Given the description of an element on the screen output the (x, y) to click on. 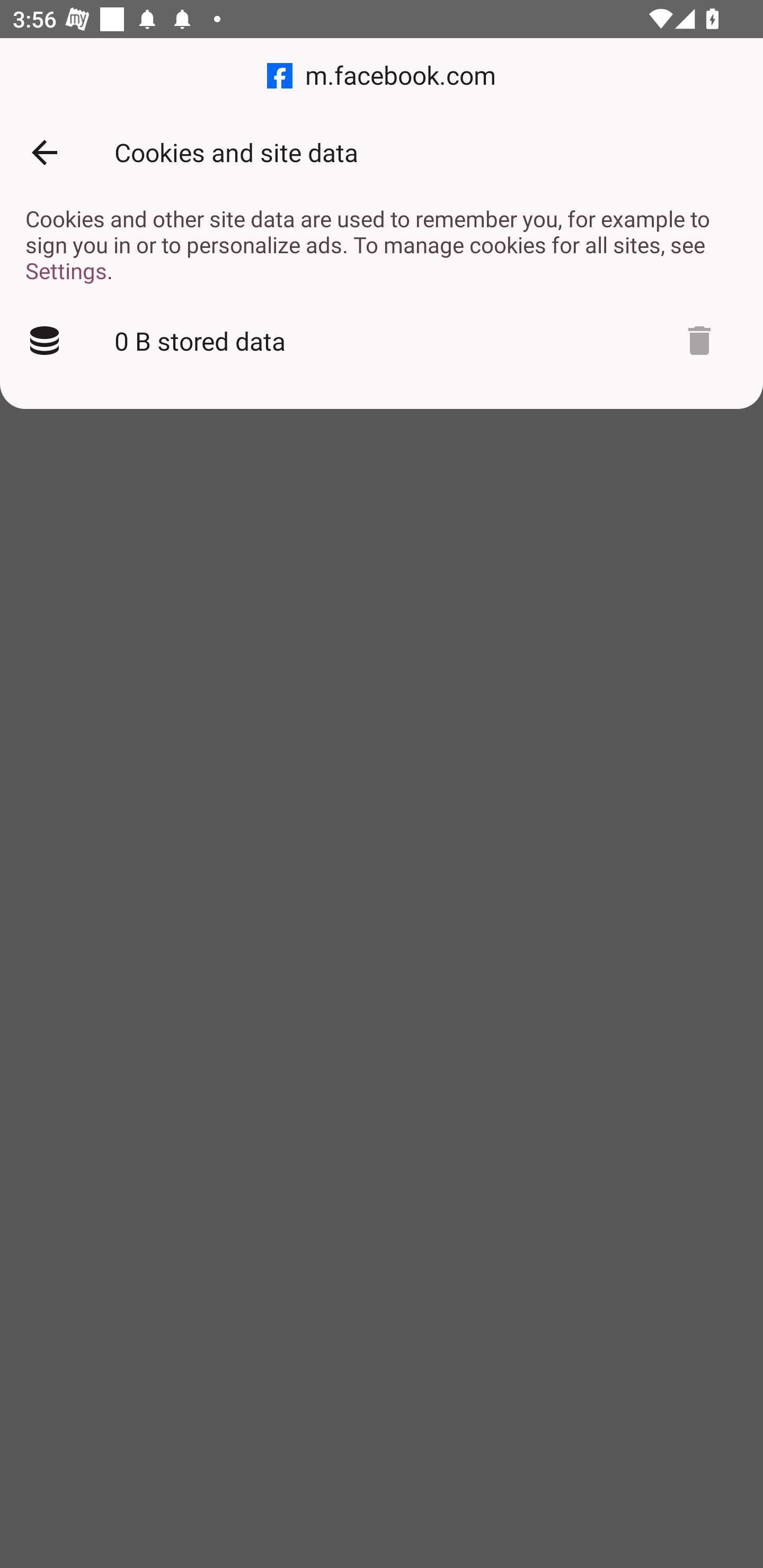
m.facebook.com (381, 75)
Back (44, 152)
0 B stored data Delete cookies? (381, 340)
